Given the description of an element on the screen output the (x, y) to click on. 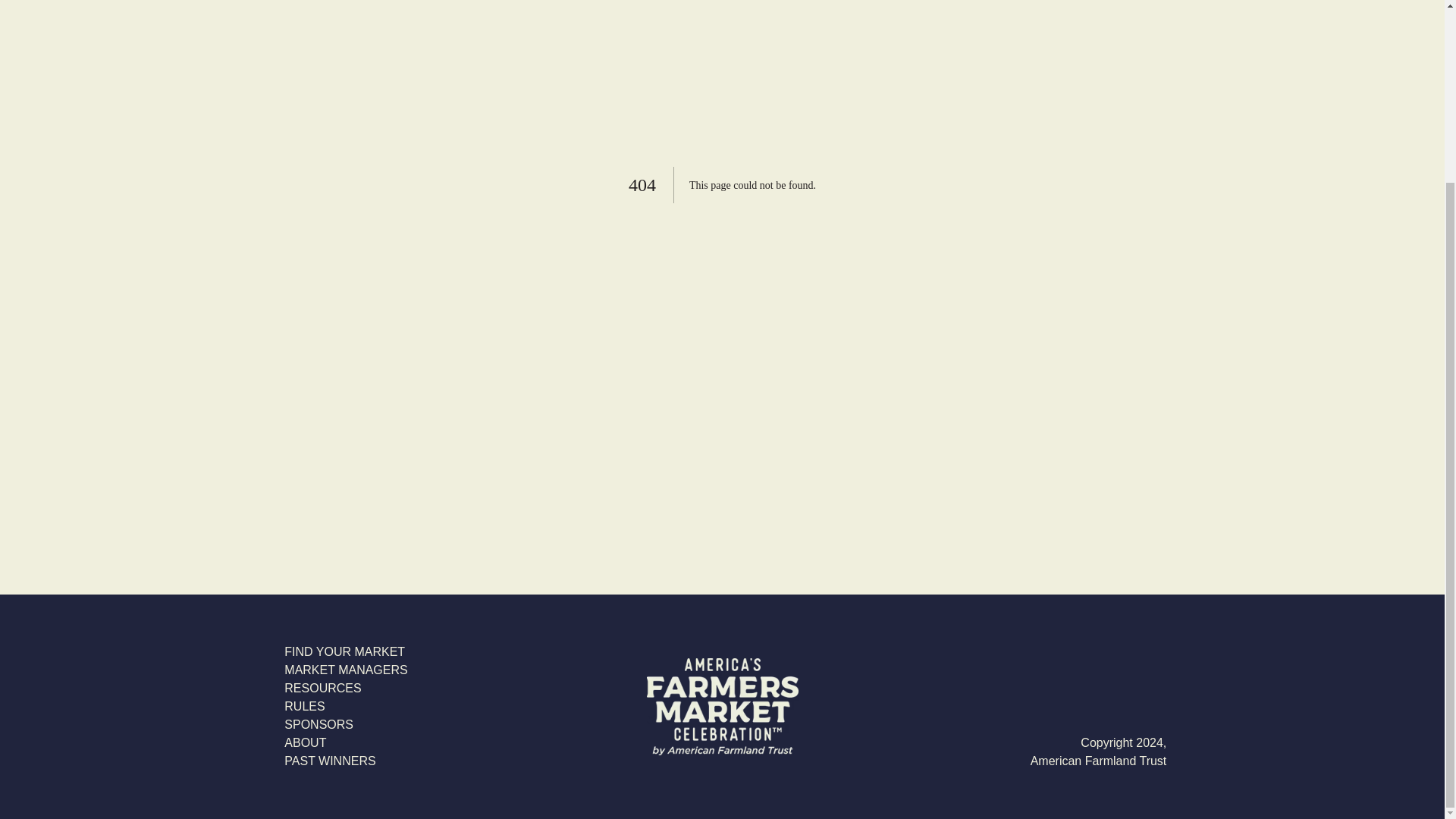
MARKET MANAGERS (345, 669)
RESOURCES (345, 688)
SPONSORS (345, 724)
PAST WINNERS (345, 761)
FIND YOUR MARKET (345, 651)
RULES (345, 706)
ABOUT (345, 742)
